Given the description of an element on the screen output the (x, y) to click on. 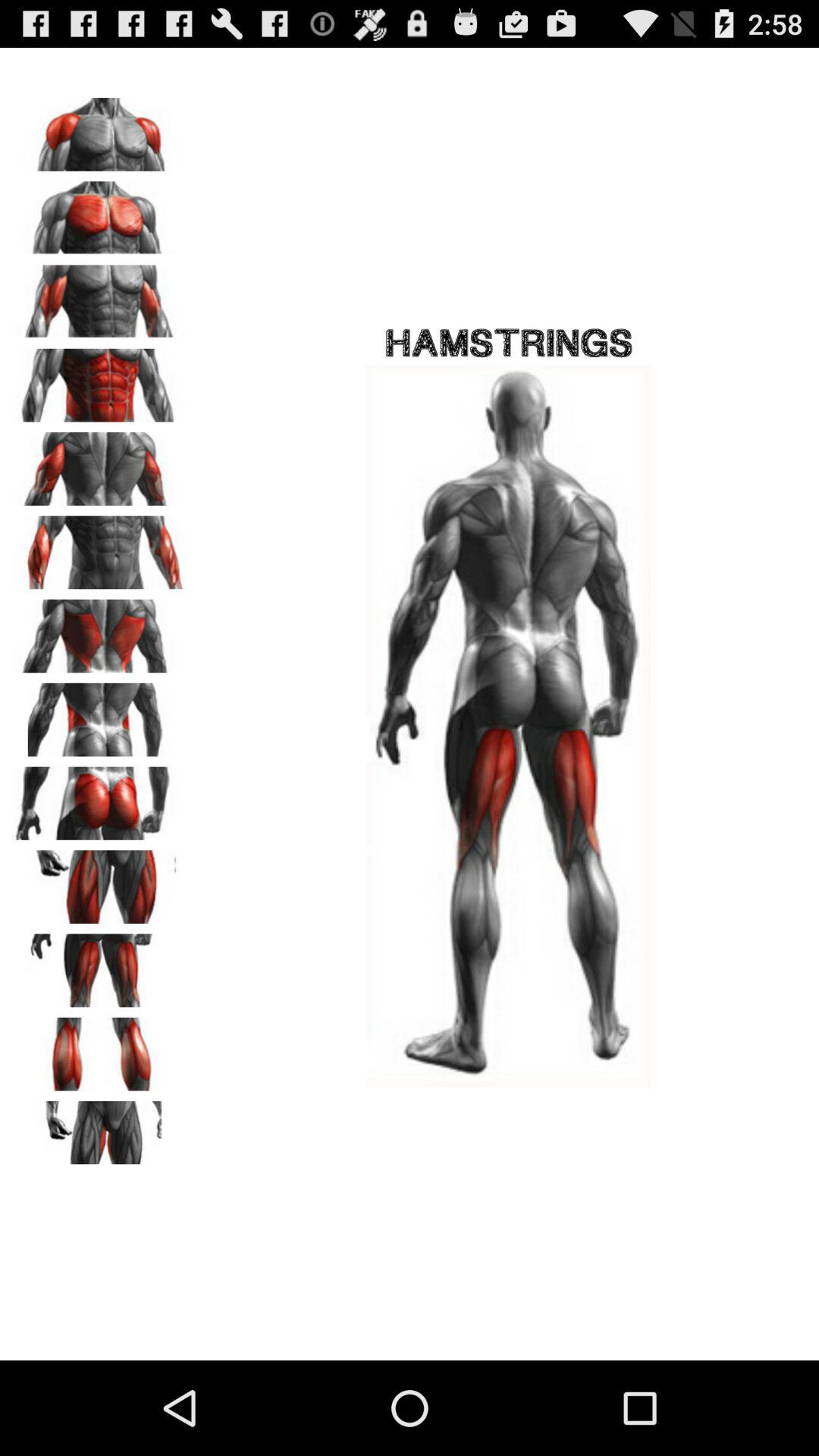
chest workout (99, 212)
